Given the description of an element on the screen output the (x, y) to click on. 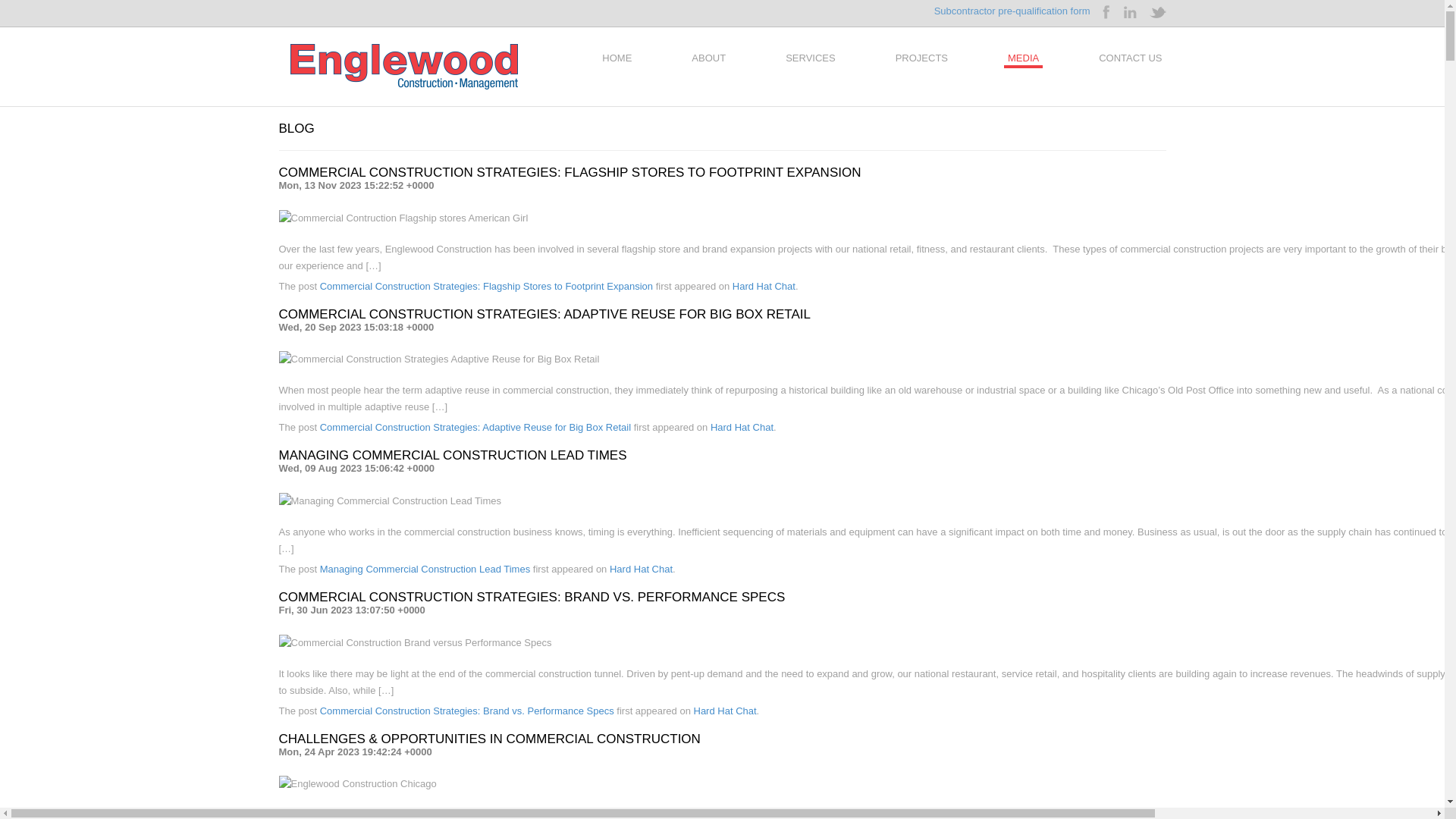
MEDIA Element type: text (1022, 57)
ABOUT Element type: text (708, 57)
Subcontractor pre-qualification form Element type: text (1012, 11)
PROJECTS Element type: text (921, 57)
Hard Hat Chat Element type: text (724, 710)
Hard Hat Chat Element type: text (741, 427)
Managing Commercial Construction Lead Times Element type: text (425, 568)
Hard Hat Chat Element type: text (763, 285)
CONTACT US Element type: text (1129, 57)
Hard Hat Chat Element type: text (640, 568)
SERVICES Element type: text (810, 57)
HOME Element type: text (616, 57)
